Given the description of an element on the screen output the (x, y) to click on. 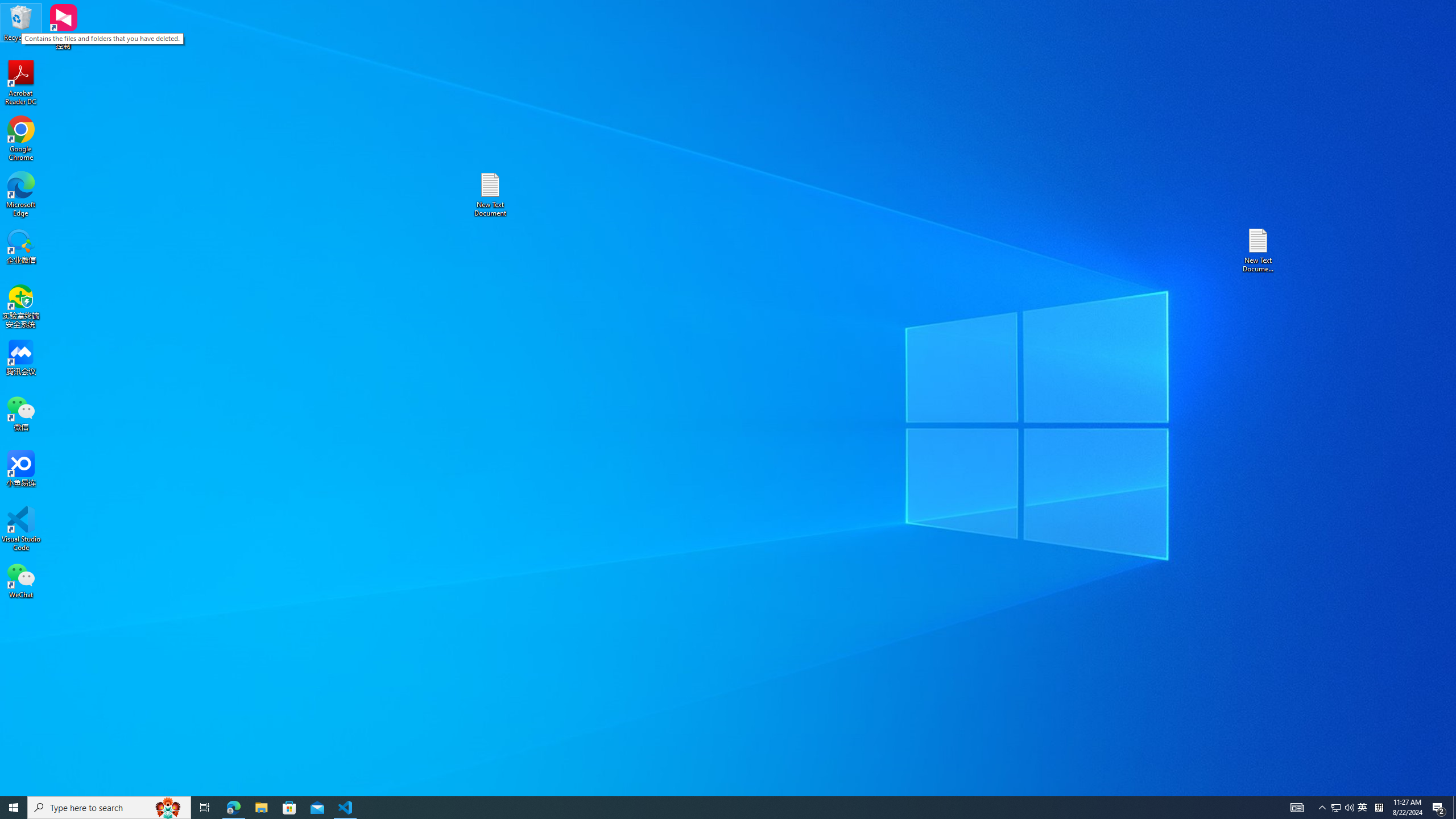
Start (1335, 807)
Microsoft Store (13, 807)
Microsoft Edge (289, 807)
New Text Document (2) (21, 194)
WeChat (1258, 250)
Type here to search (21, 580)
Search highlights icon opens search home window (108, 807)
Running applications (167, 807)
Tray Input Indicator - Chinese (Simplified, China) (707, 807)
Q2790: 100% (1378, 807)
